Given the description of an element on the screen output the (x, y) to click on. 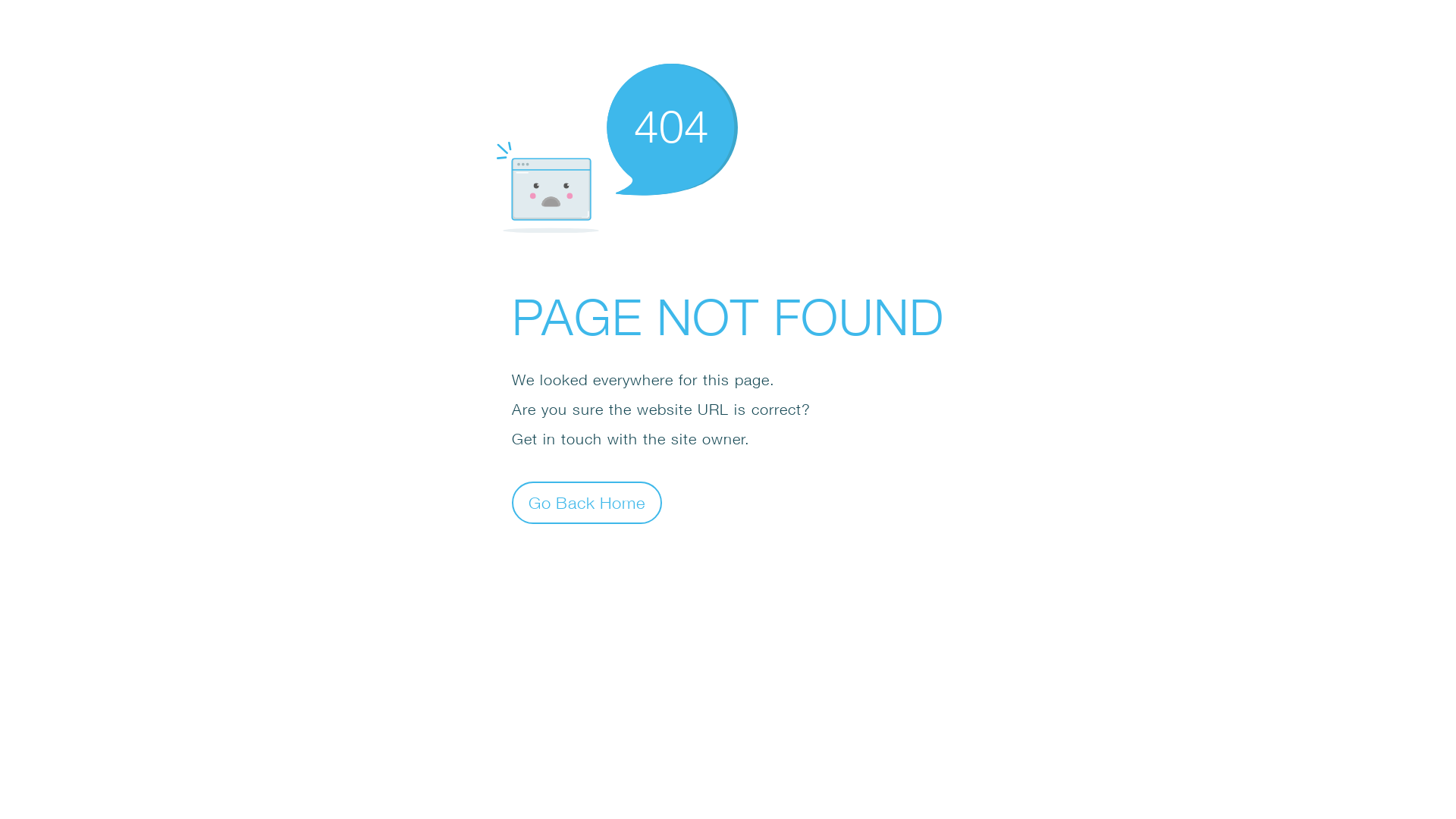
Go Back Home Element type: text (586, 502)
